Given the description of an element on the screen output the (x, y) to click on. 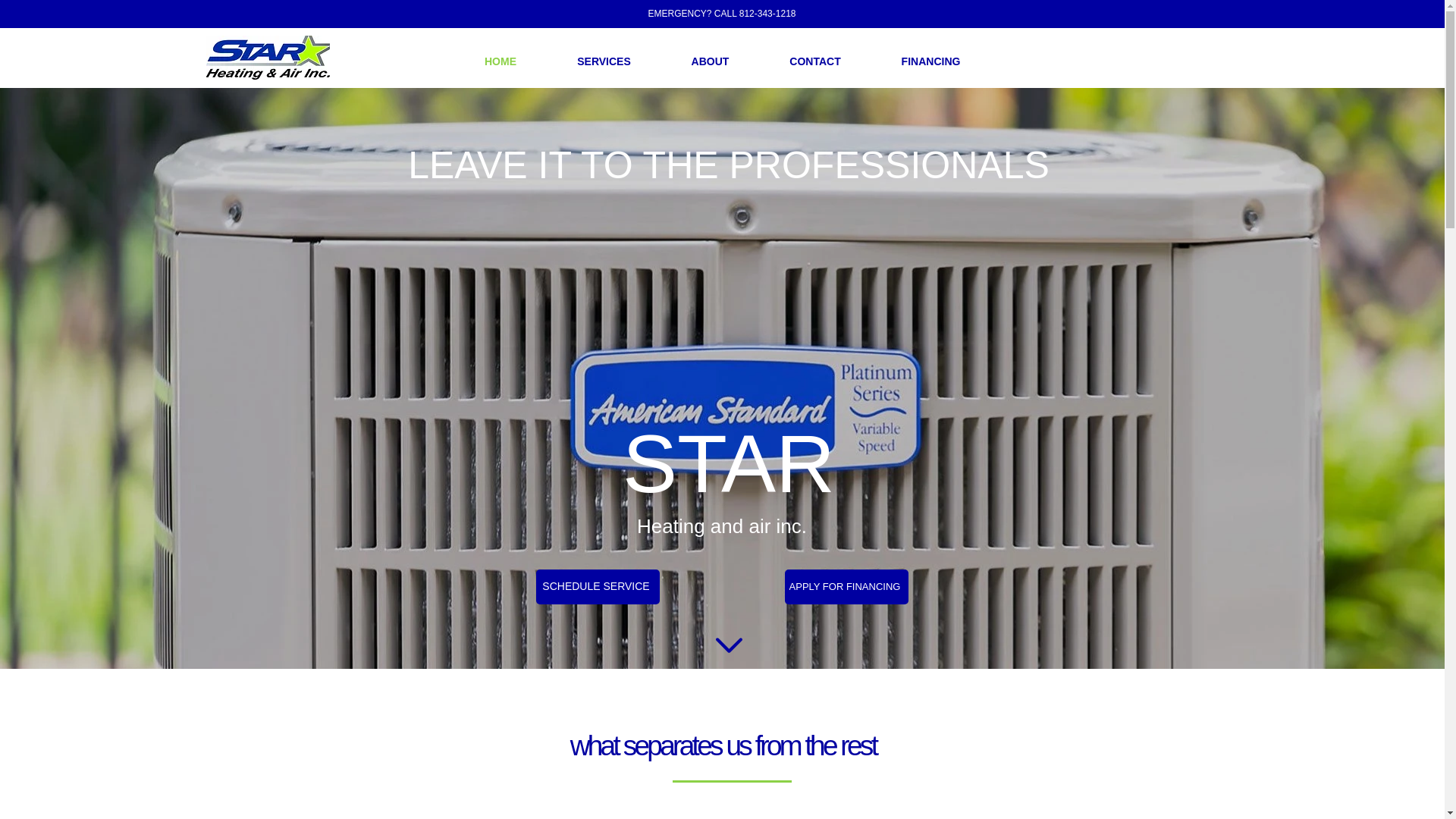
APPLY FOR FINANCING (845, 586)
SERVICES (604, 61)
ABOUT (710, 61)
HOME (499, 61)
CONTACT (815, 61)
SCHEDULE SERVICE (597, 586)
FINANCING (930, 61)
